Given the description of an element on the screen output the (x, y) to click on. 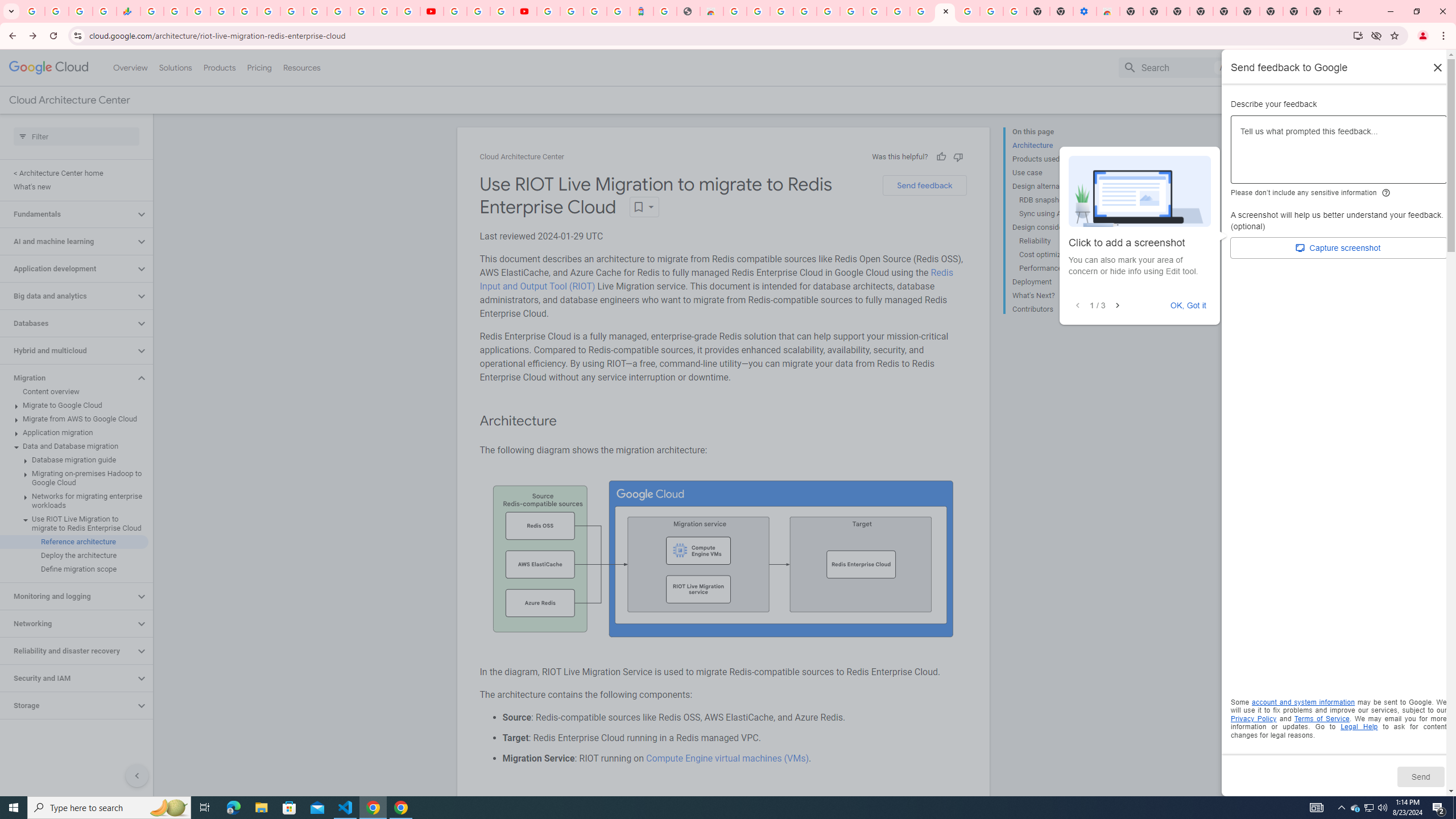
Open dropdown (643, 206)
Resources (301, 67)
Performance (1062, 268)
Browse the Google Chrome Community - Google Chrome Community (921, 11)
Content Creator Programs & Opportunities - YouTube Creators (524, 11)
Database migration guide (74, 459)
Sign in - Google Accounts (221, 11)
Storage (67, 705)
Reference architecture (74, 541)
RDB snapshots (1062, 200)
Monitoring and logging (67, 596)
Reliability (1062, 241)
Chrome Web Store - Household (711, 11)
